Given the description of an element on the screen output the (x, y) to click on. 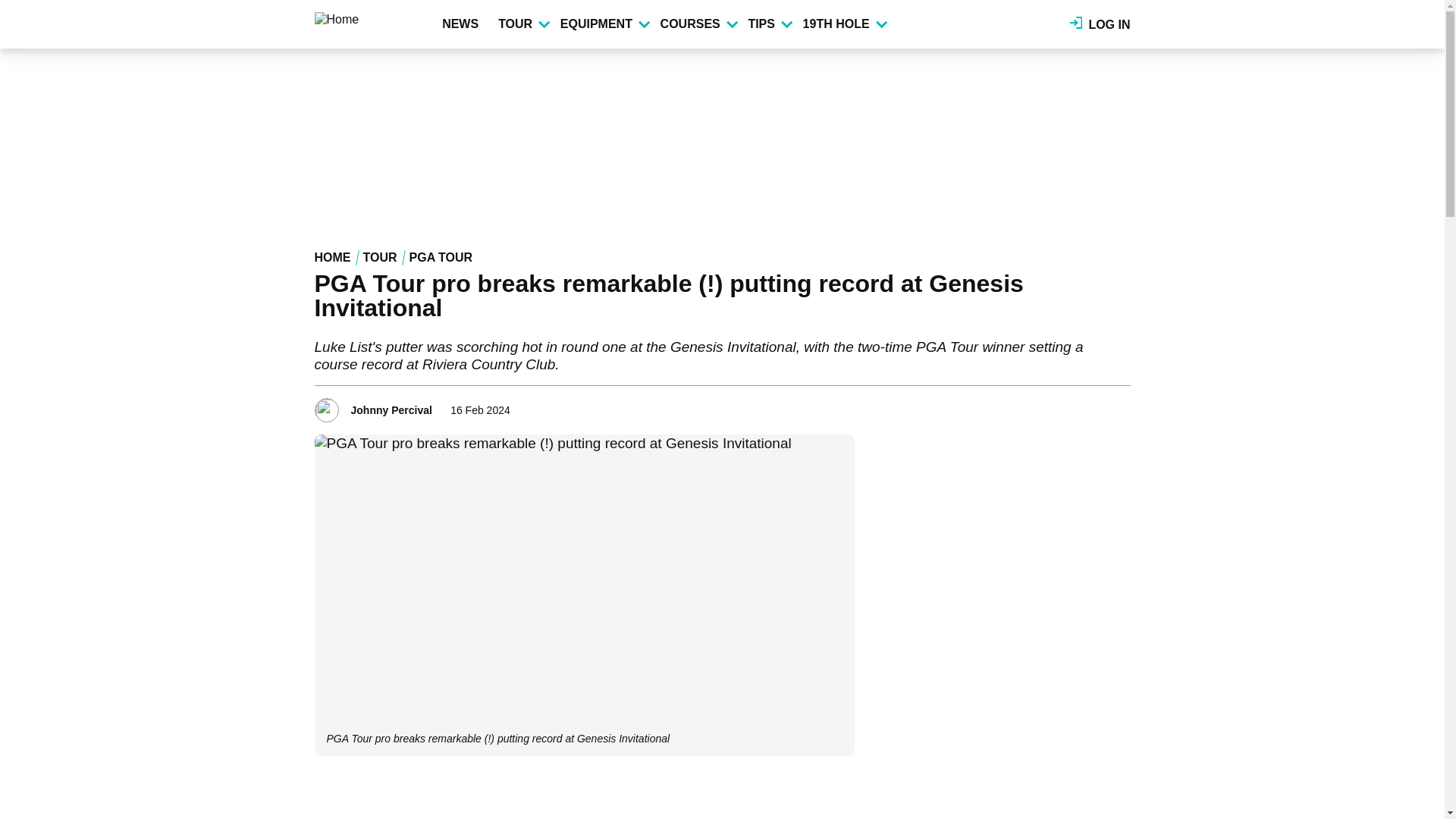
Share to Linkedin (1097, 405)
Share to X (1076, 405)
EQUIPMENT (603, 24)
TOUR (523, 24)
NEWS (463, 24)
Share to Email (1119, 405)
LOG IN (1100, 24)
Share to Facebook (1055, 405)
